Given the description of an element on the screen output the (x, y) to click on. 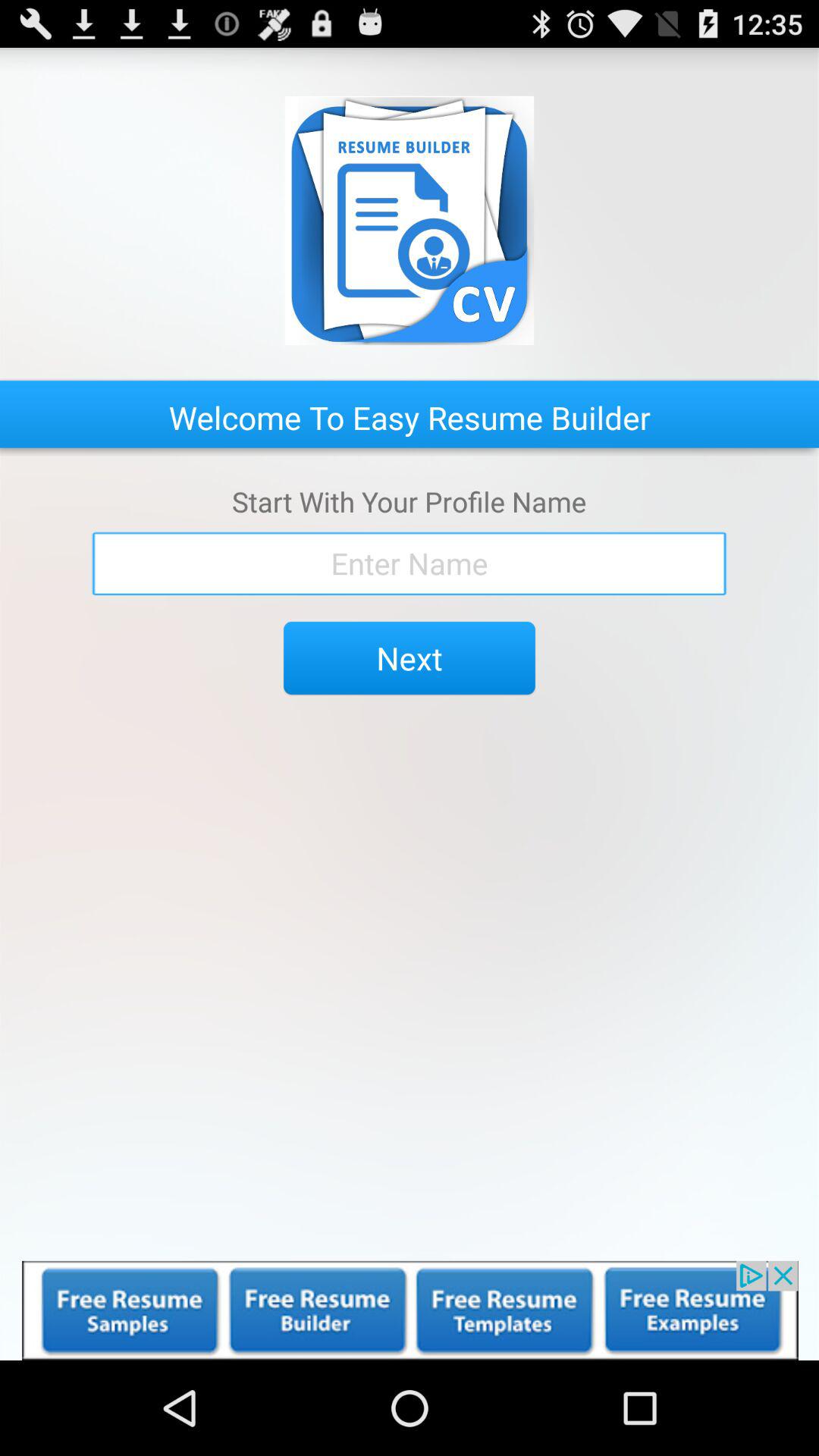
write your name (409, 563)
